Given the description of an element on the screen output the (x, y) to click on. 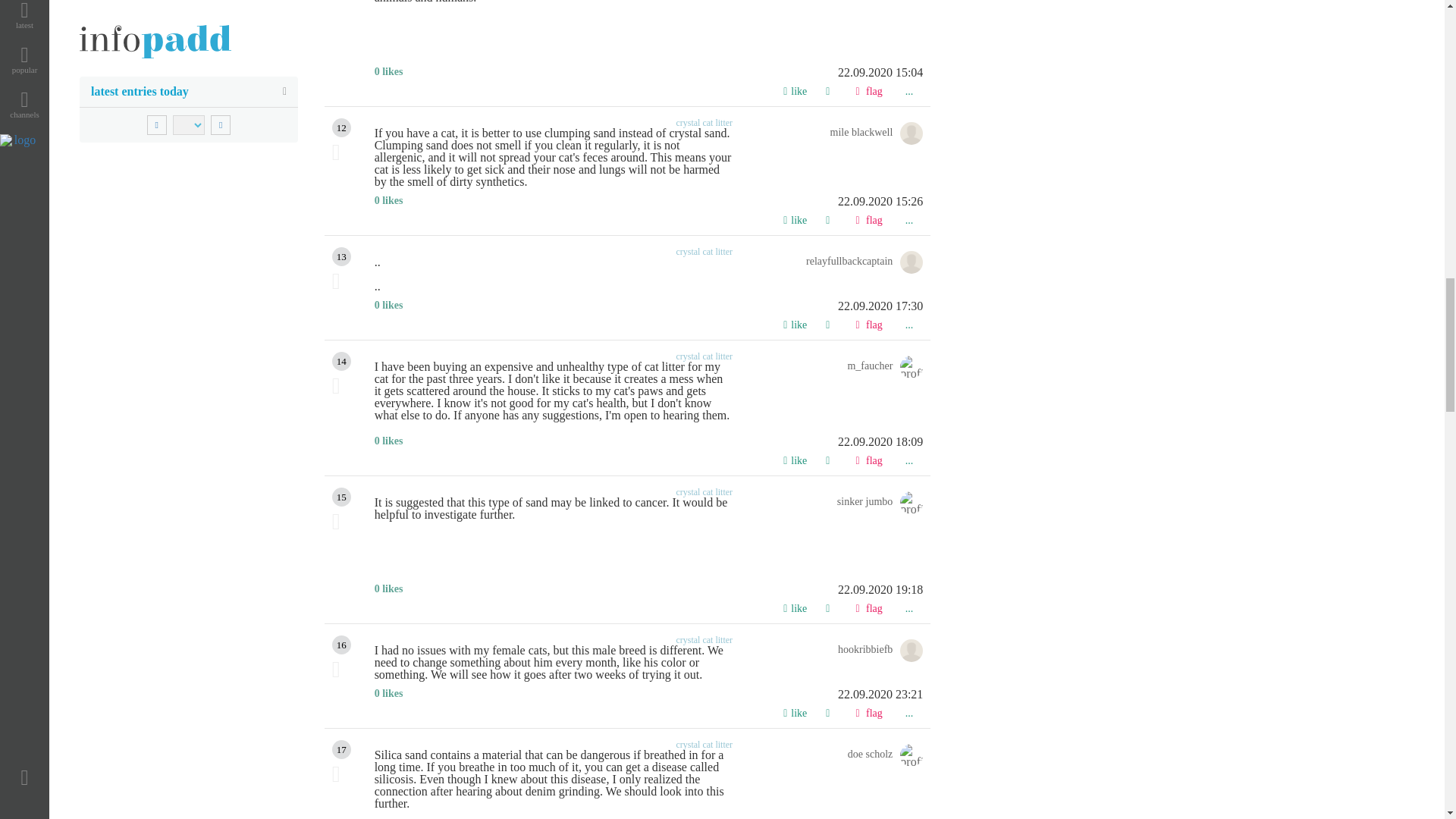
22.09.2020 15:26 (648, 201)
22.09.2020 19:18 (648, 589)
22.09.2020 18:09 (648, 441)
22.09.2020 15:04 (648, 72)
22.09.2020 23:21 (648, 694)
22.09.2020 17:30 (648, 306)
